Given the description of an element on the screen output the (x, y) to click on. 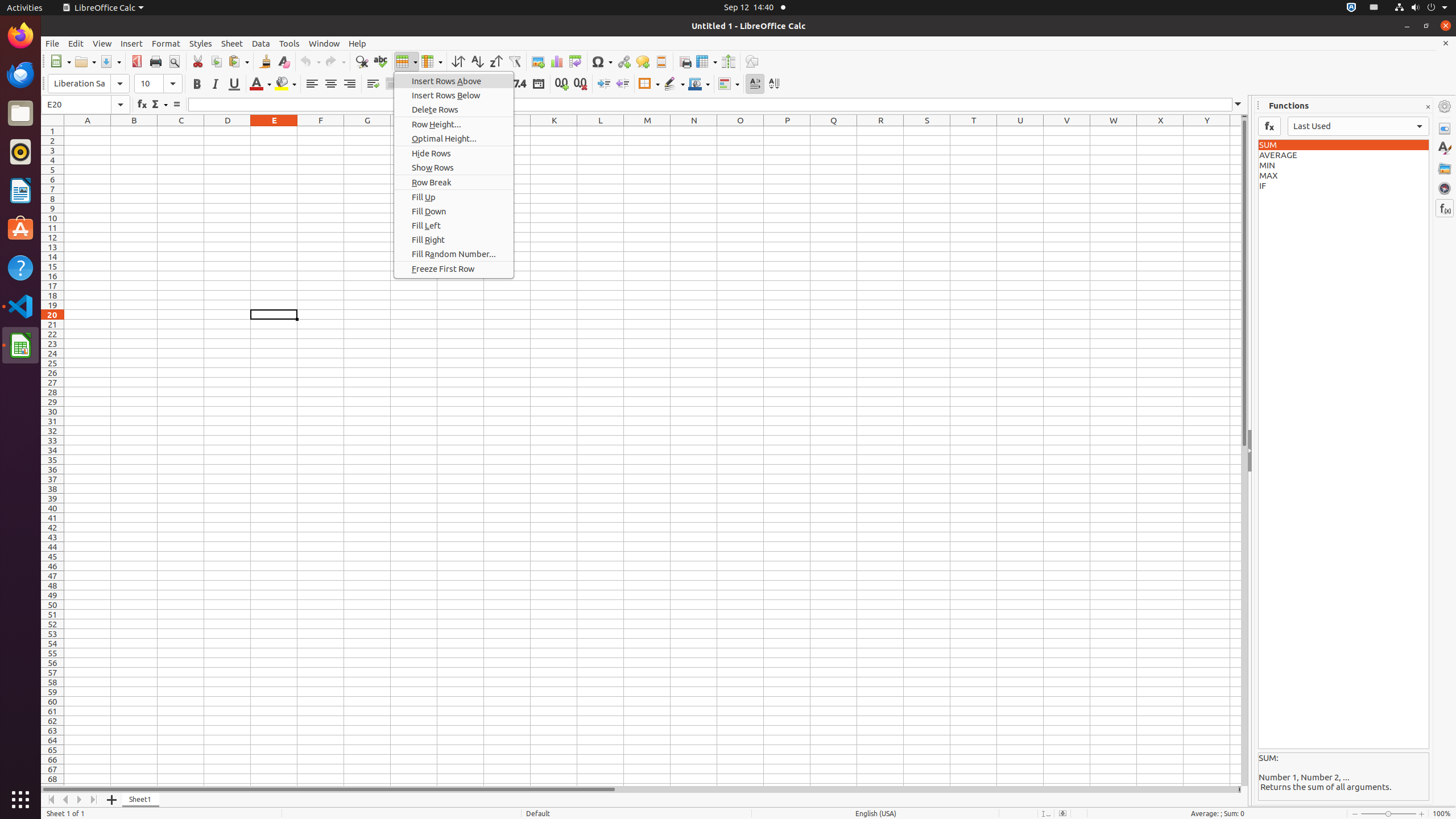
Visual Studio Code Element type: push-button (20, 306)
Show Applications Element type: toggle-button (20, 799)
Files Element type: push-button (20, 113)
LibreOffice Writer Element type: push-button (20, 190)
System Element type: menu (1420, 7)
